Given the description of an element on the screen output the (x, y) to click on. 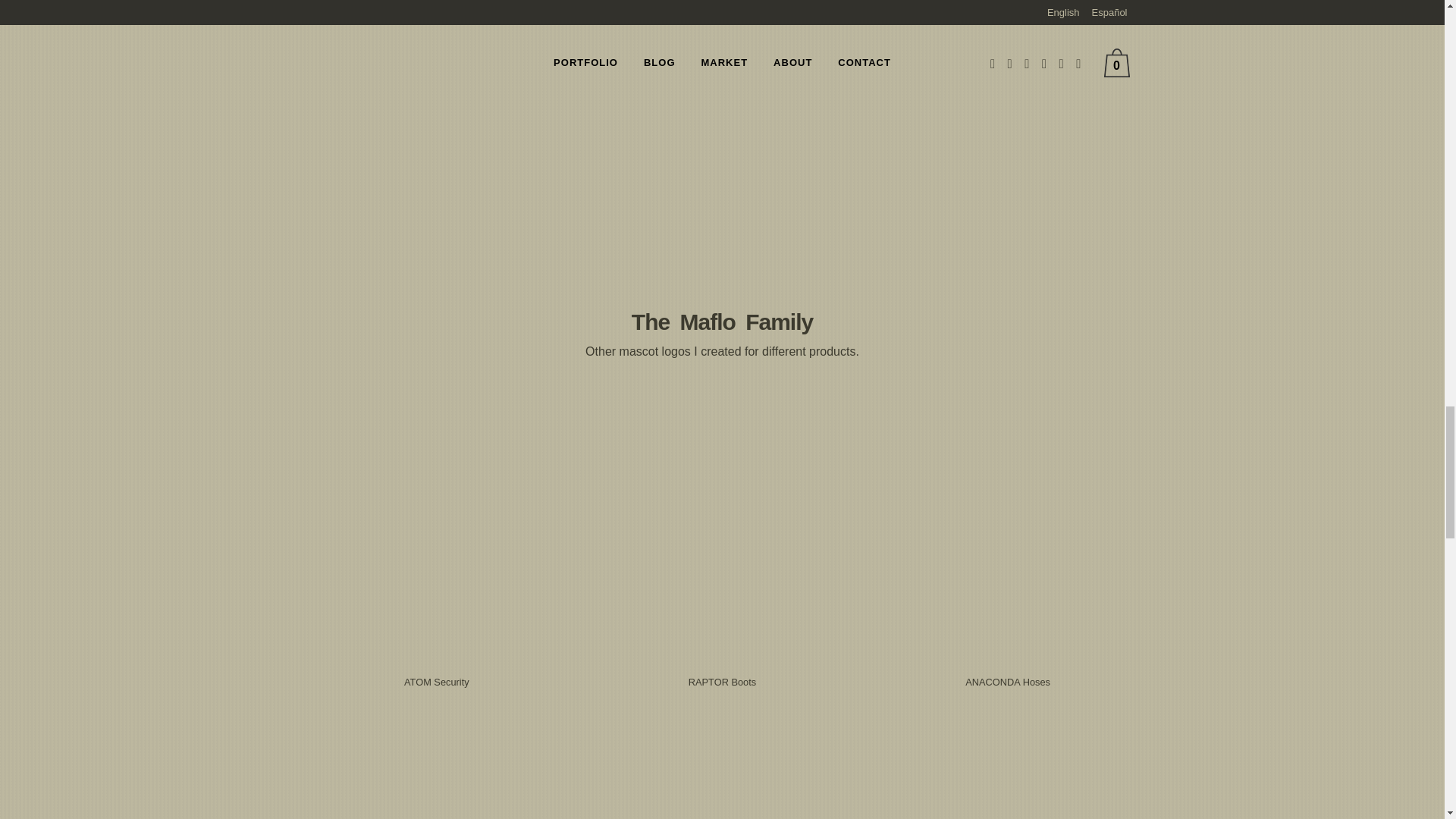
anaconda riego logo design (435, 58)
Bull terrier Mascot logo (435, 534)
anaconda riego mascot logo design (1008, 58)
anaconda riego logo design (722, 77)
